Given the description of an element on the screen output the (x, y) to click on. 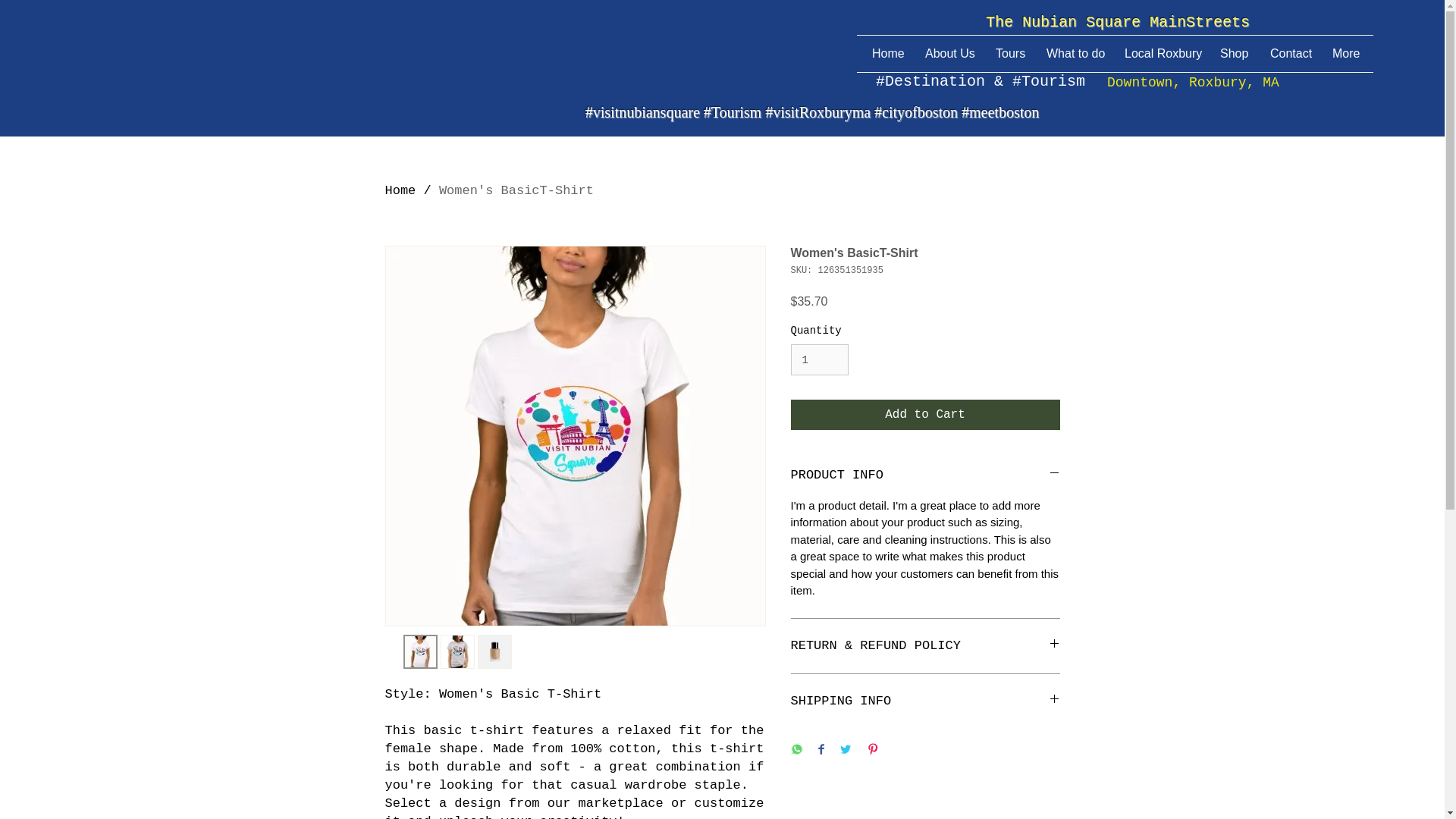
Local Roxbury (1160, 54)
Smile.io Rewards Program Launcher (68, 780)
About Us (949, 54)
Contact (1289, 54)
Home (887, 54)
Women's BasicT-Shirt (516, 190)
Tours (1009, 54)
1 (818, 359)
PRODUCT INFO (924, 475)
What to do (1074, 54)
Shop (1233, 54)
Add to Cart (924, 414)
SHIPPING INFO (924, 701)
Home (400, 190)
